Given the description of an element on the screen output the (x, y) to click on. 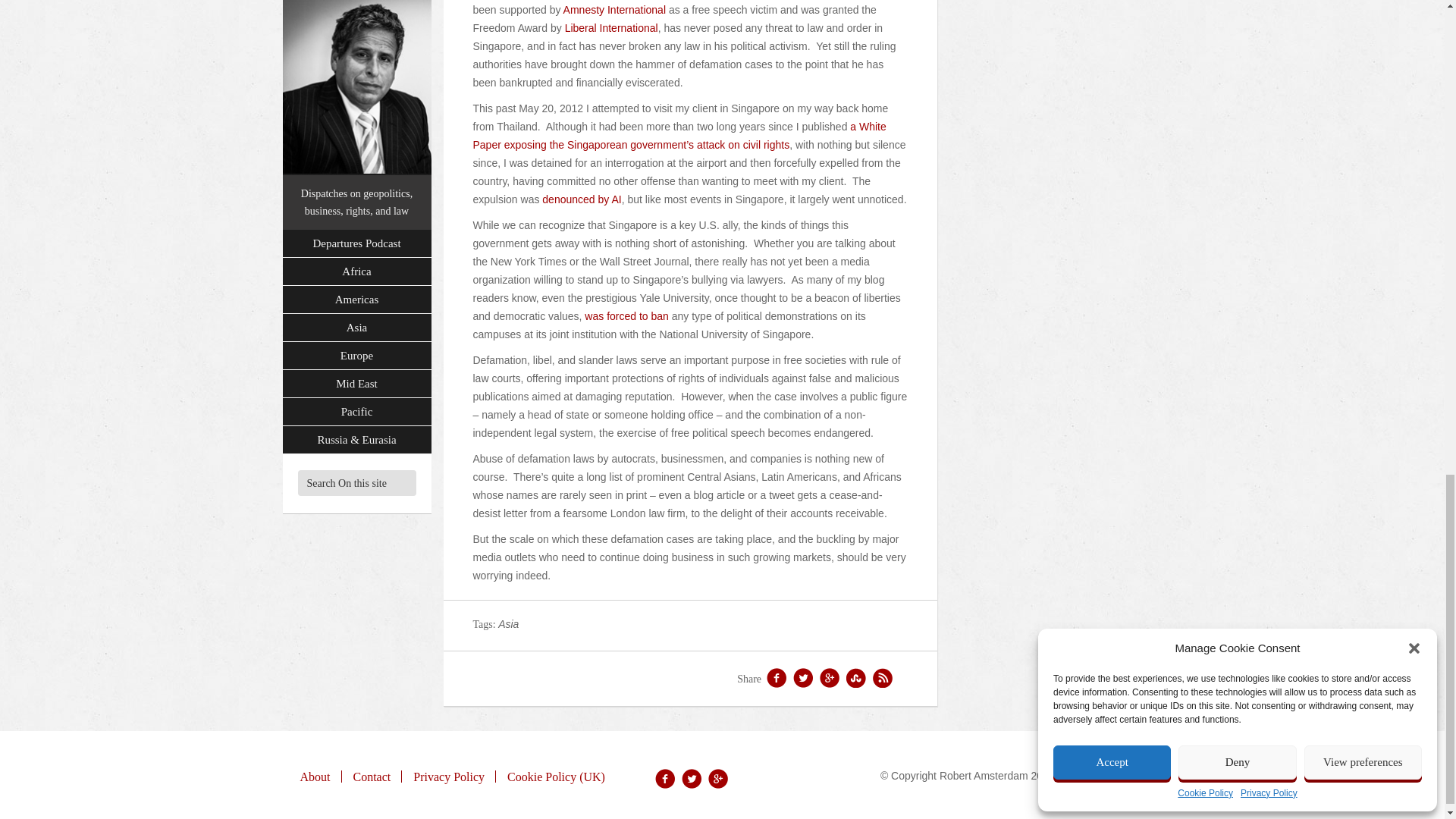
Amnesty International (614, 9)
Liberal International (611, 28)
